Given the description of an element on the screen output the (x, y) to click on. 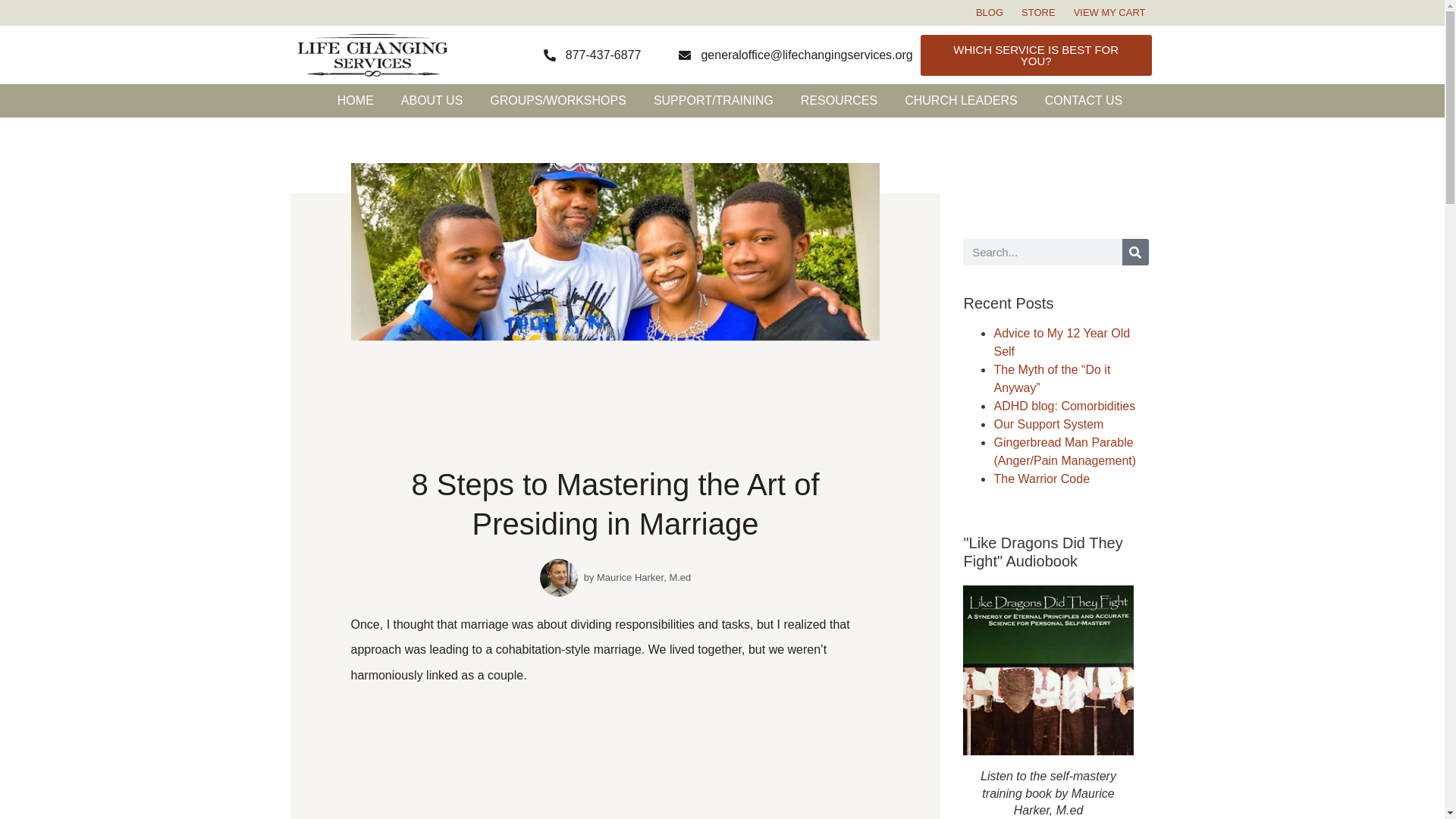
ABOUT US (432, 100)
BLOG (988, 14)
WHICH SERVICE IS BEST FOR YOU? (1035, 55)
VIEW MY CART (1109, 14)
Become a Better Husband and Father (614, 759)
HOME (355, 100)
877-437-6877 (592, 54)
STORE (1037, 14)
